Given the description of an element on the screen output the (x, y) to click on. 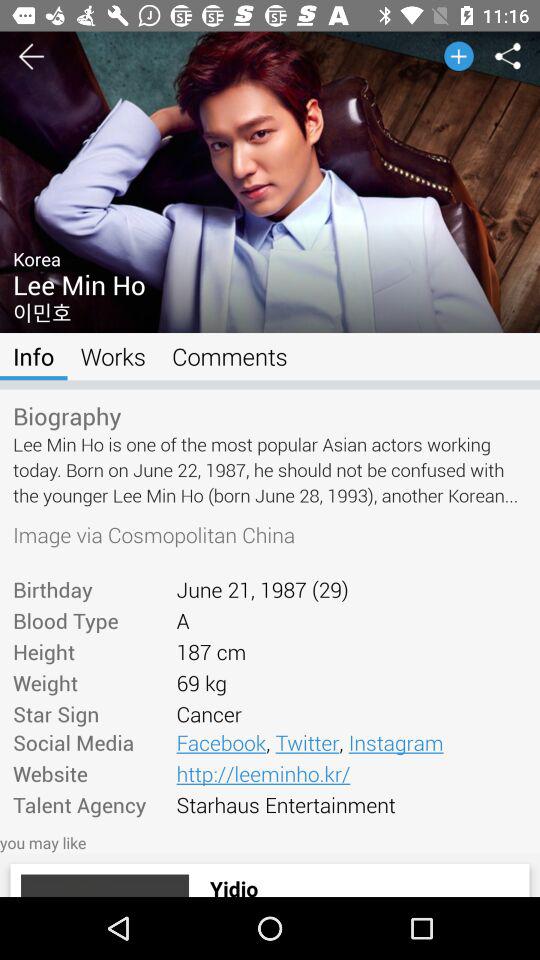
scroll until the http://leeminho.kr/ icon (351, 773)
